Given the description of an element on the screen output the (x, y) to click on. 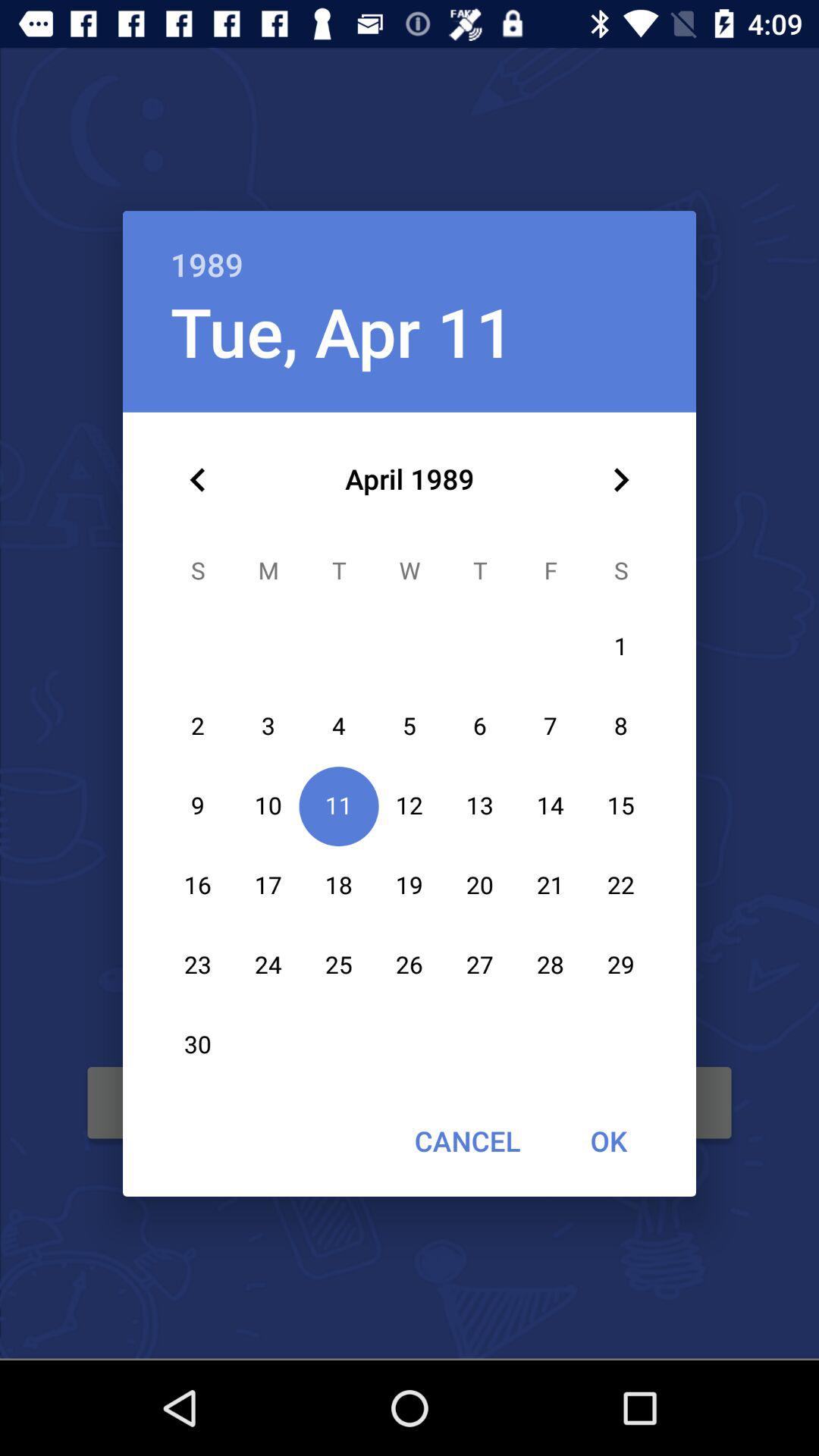
click item below the 1989 item (342, 331)
